Given the description of an element on the screen output the (x, y) to click on. 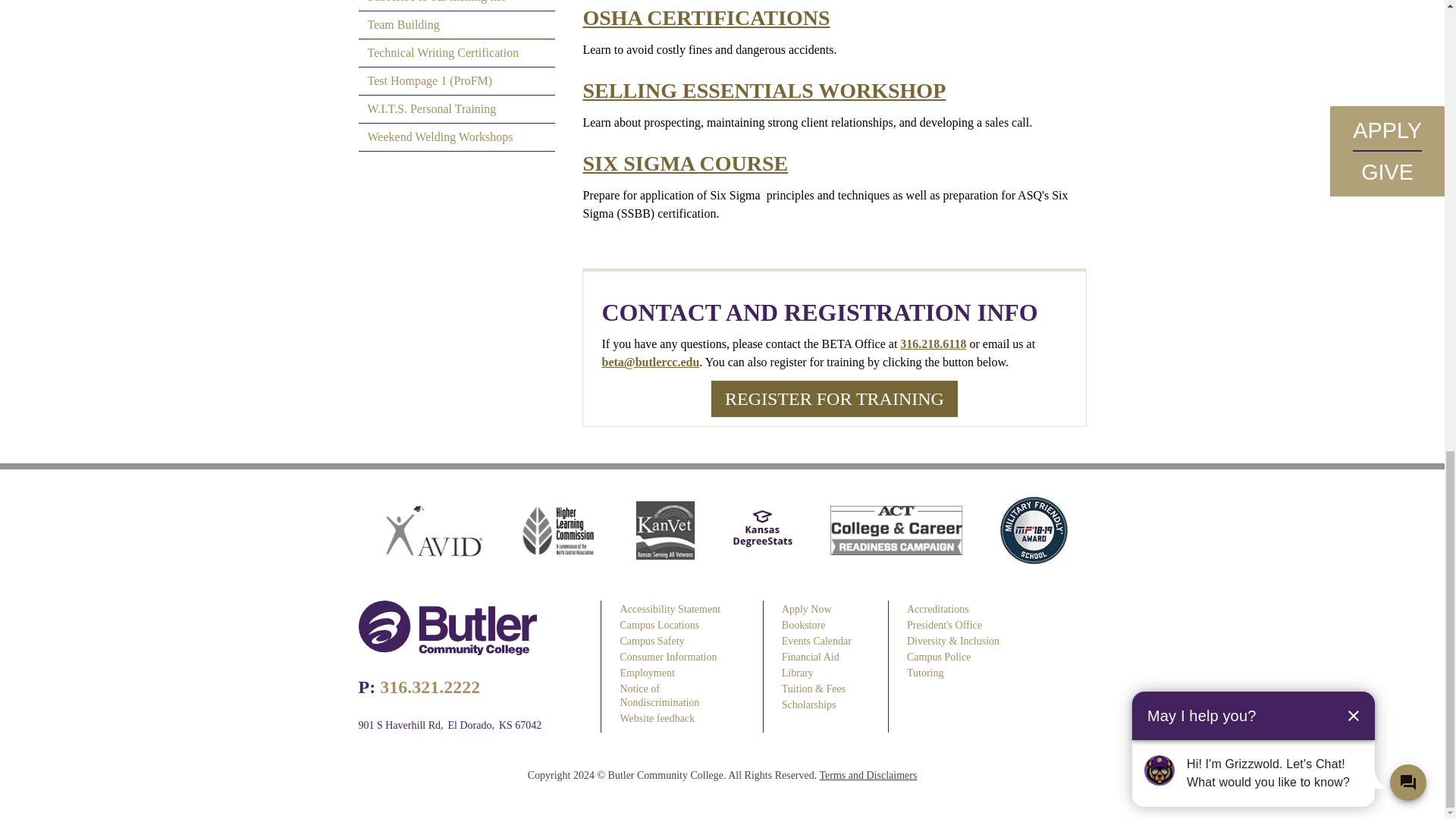
316.218.6118 (932, 343)
